Given the description of an element on the screen output the (x, y) to click on. 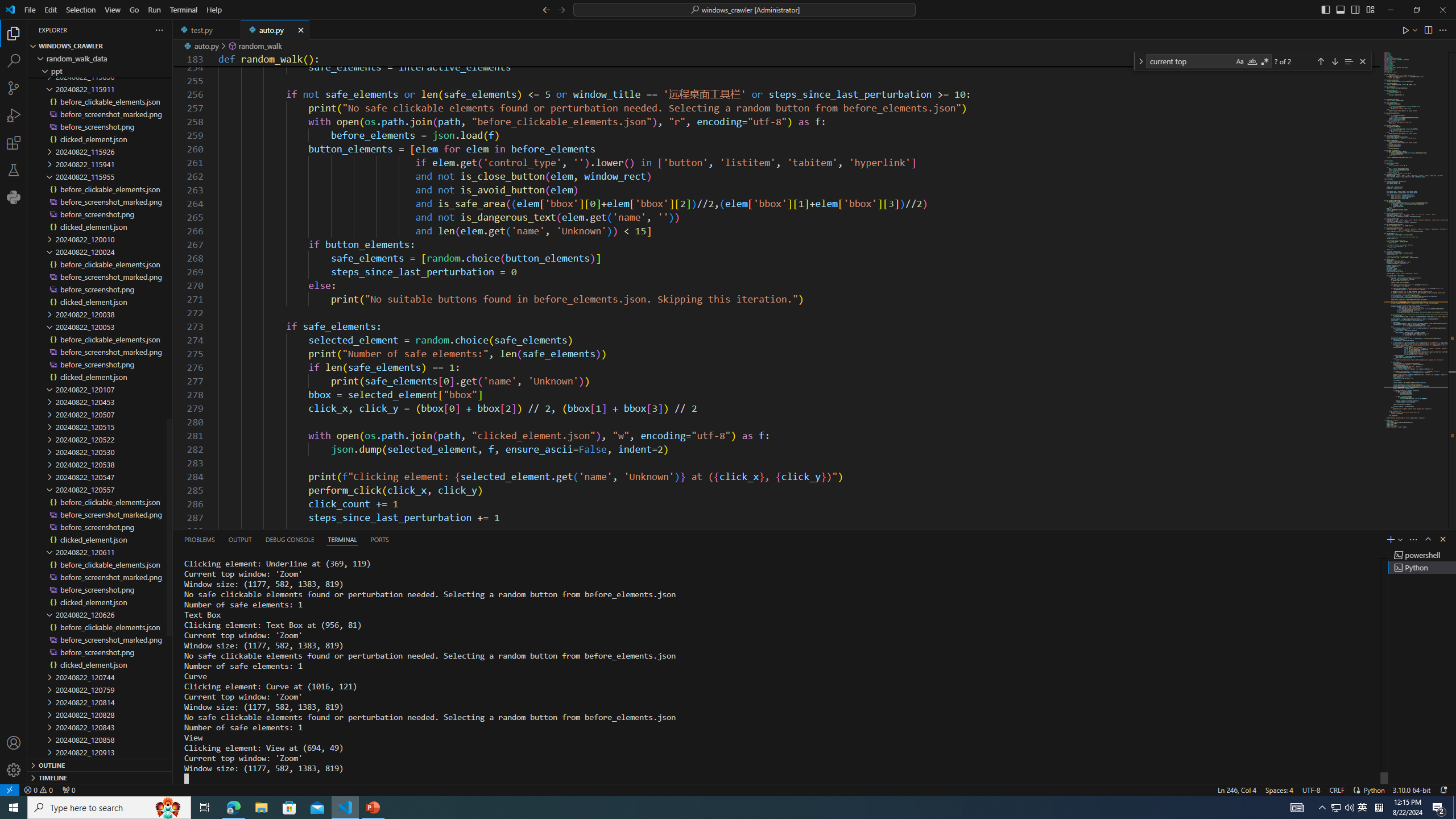
CRLF (1336, 789)
Next Match (Enter) (1333, 60)
Terminal 2 Python (1422, 567)
Previous Match (Shift+Enter) (1320, 60)
Edit (50, 9)
Run or Debug... (1414, 29)
remote (9, 789)
Manage (13, 755)
Title actions (1347, 9)
Terminal 1 powershell (1422, 554)
Customize Layout... (1369, 9)
